Given the description of an element on the screen output the (x, y) to click on. 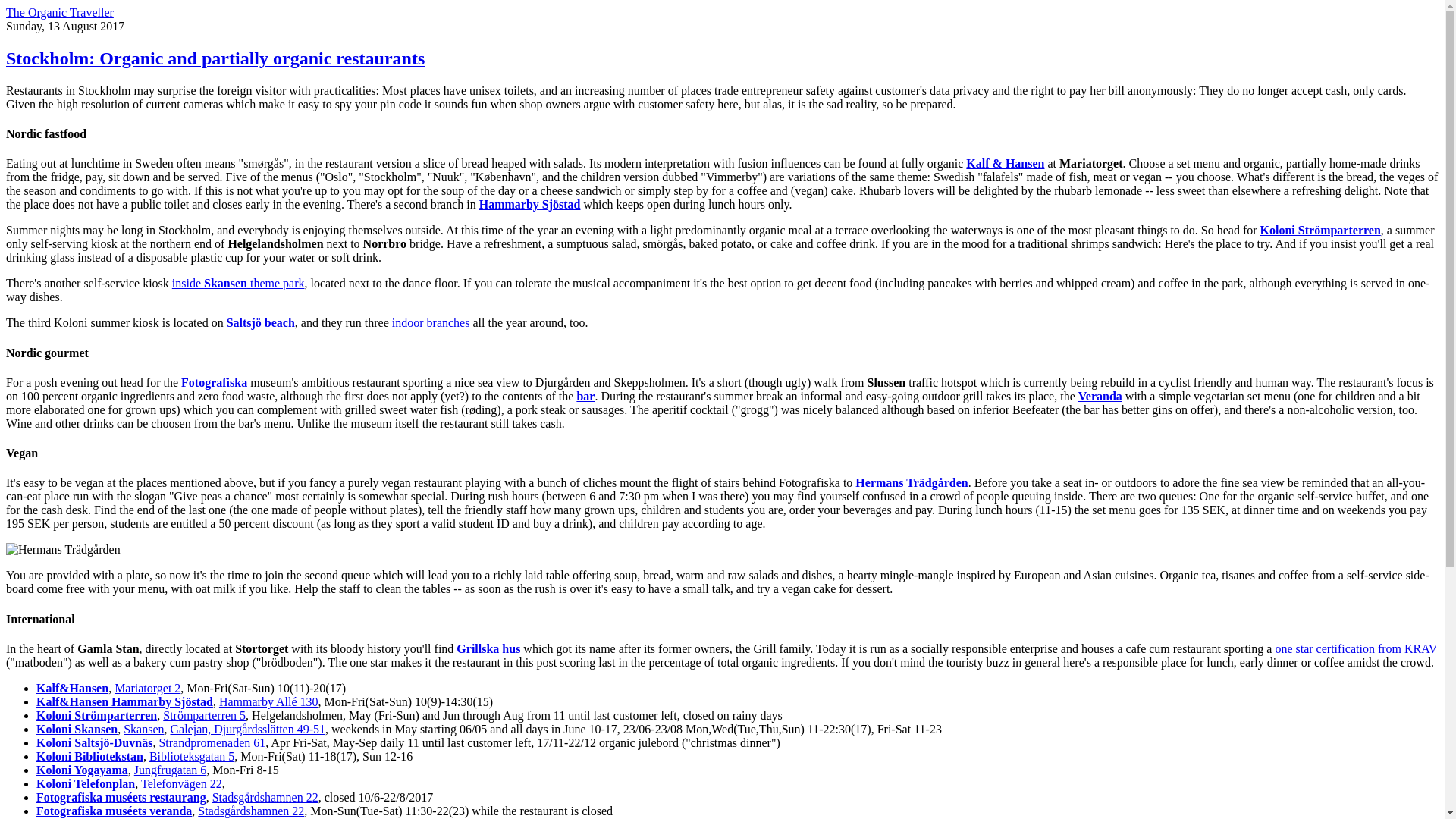
bar (585, 395)
Fotografiska (213, 382)
inside Skansen theme park (237, 282)
indoor branches (430, 322)
Koloni Bibliotekstan (89, 756)
Koloni Yogayama (82, 769)
For a posh evening out head for (84, 382)
It's easy to be vegan at the places mentioned above (129, 481)
Koloni Skansen (76, 728)
There's another self-service kiosk (86, 282)
Veranda (1100, 395)
Skansen (143, 728)
Eating out at lunchtime in Sweden (89, 163)
Koloni Telefonplan (85, 783)
In the heart of (39, 648)
